Given the description of an element on the screen output the (x, y) to click on. 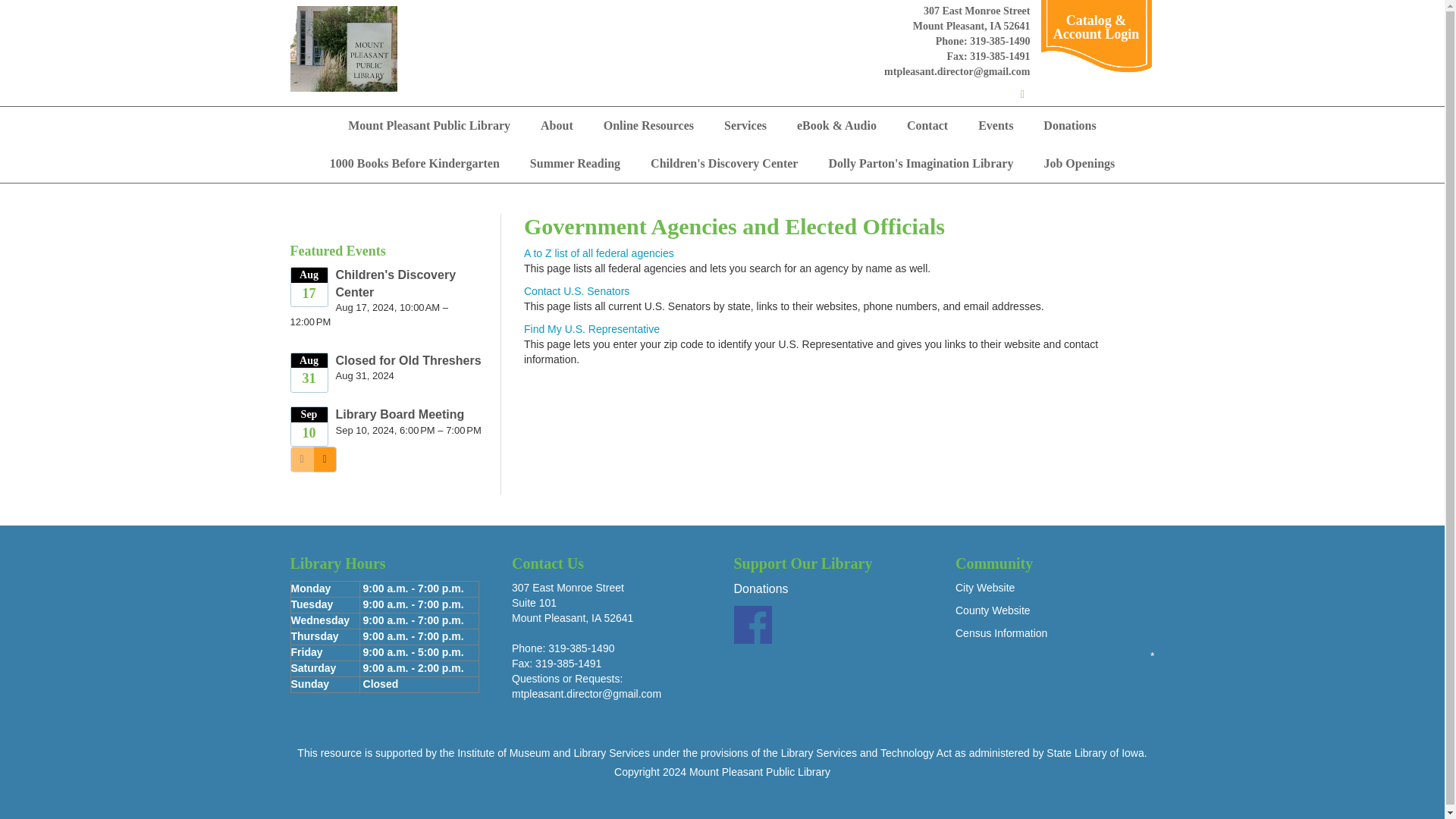
Dolly Parton's Imagination Library (919, 163)
About (556, 125)
Services (745, 125)
Mount Pleasant Public Library (429, 125)
Contact (926, 125)
Job Openings (1078, 163)
1000 Books Before Kindergarten (414, 163)
Children's Discovery Center (723, 163)
Online Resources (648, 125)
Summer Reading (574, 163)
